Given the description of an element on the screen output the (x, y) to click on. 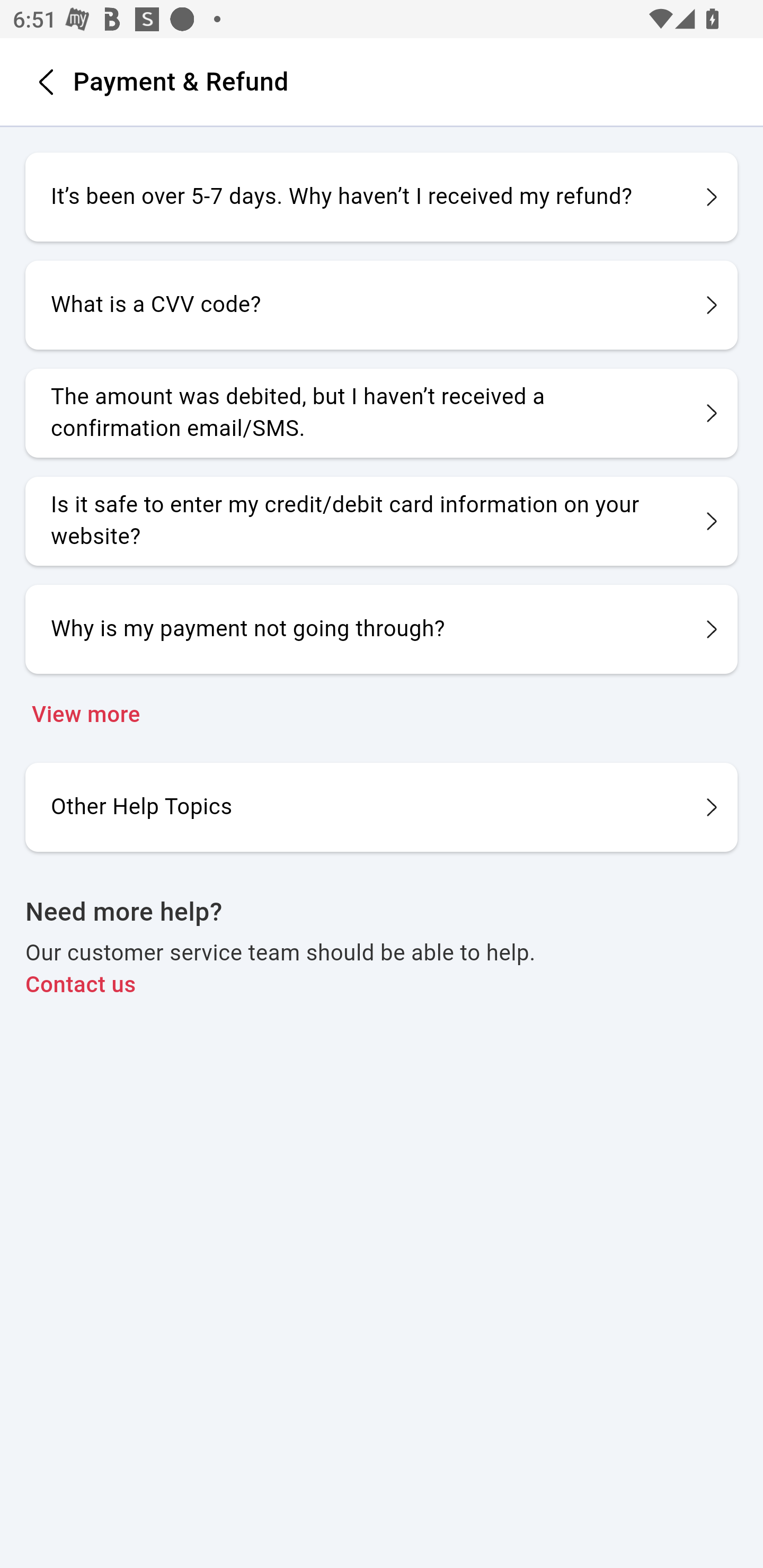
What is a CVV code? (381, 304)
Why is my payment not going through? (381, 629)
View more (381, 714)
Other Help Topics (381, 806)
Contact us (381, 985)
